Given the description of an element on the screen output the (x, y) to click on. 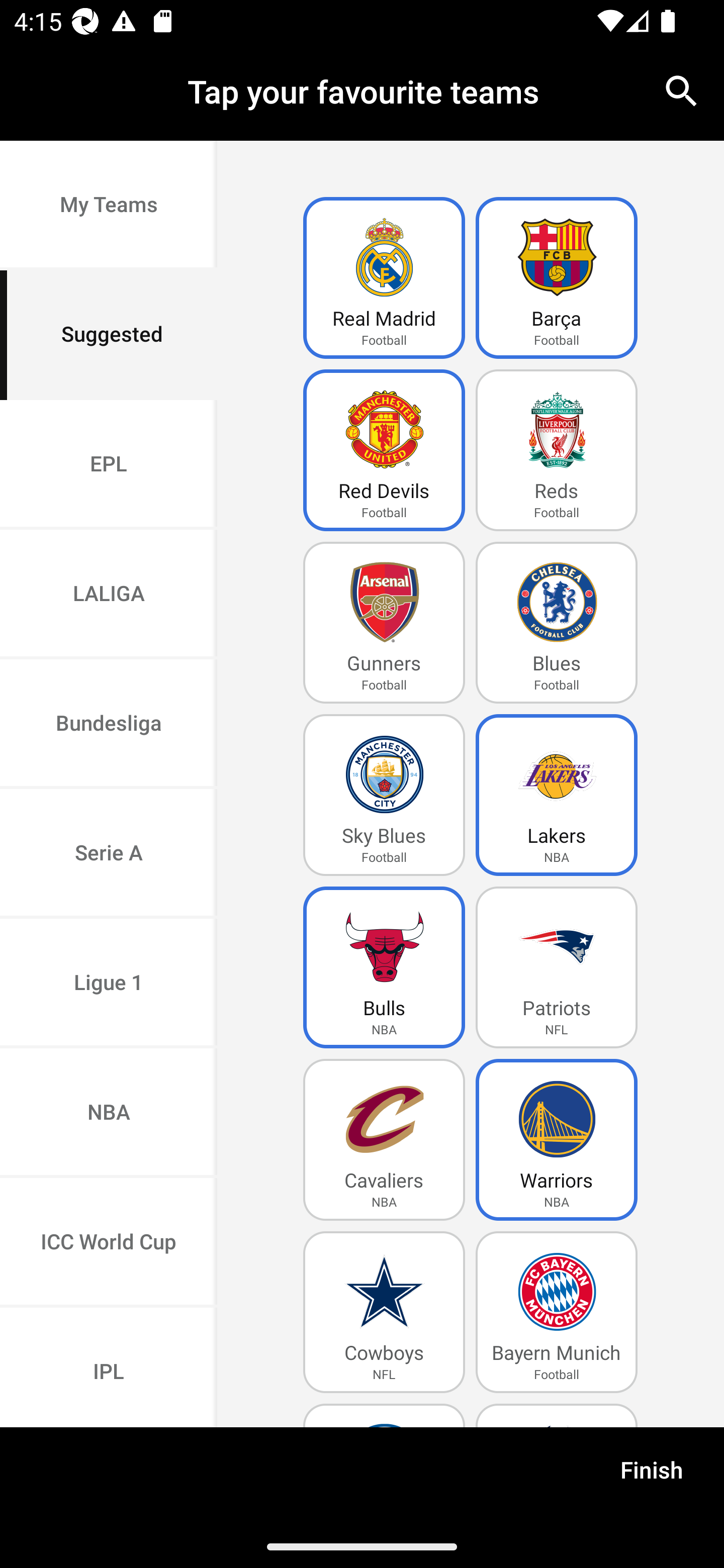
search (681, 90)
My Teams (108, 206)
Real Madrid Real MadridSelected Football (383, 278)
Barça BarçaSelected Football (556, 278)
Suggested (108, 334)
Red Devils Red DevilsSelected Football (383, 450)
Reds Reds Football (556, 450)
EPL (108, 464)
LALIGA (108, 594)
Gunners Gunners Football (383, 623)
Blues Blues Football (556, 623)
Bundesliga (108, 725)
Sky Blues Sky Blues Football (383, 794)
Lakers LakersSelected NBA (556, 794)
Serie A (108, 853)
Bulls BullsSelected NBA (383, 966)
Patriots Patriots NFL (556, 966)
Ligue 1 (108, 983)
NBA (108, 1113)
Cavaliers Cavaliers NBA (383, 1139)
Warriors WarriorsSelected NBA (556, 1139)
ICC World Cup (108, 1242)
Cowboys Cowboys NFL (383, 1311)
Bayern Munich Bayern Munich Football (556, 1311)
IPL (108, 1366)
Finish Finish and Close (651, 1475)
